Given the description of an element on the screen output the (x, y) to click on. 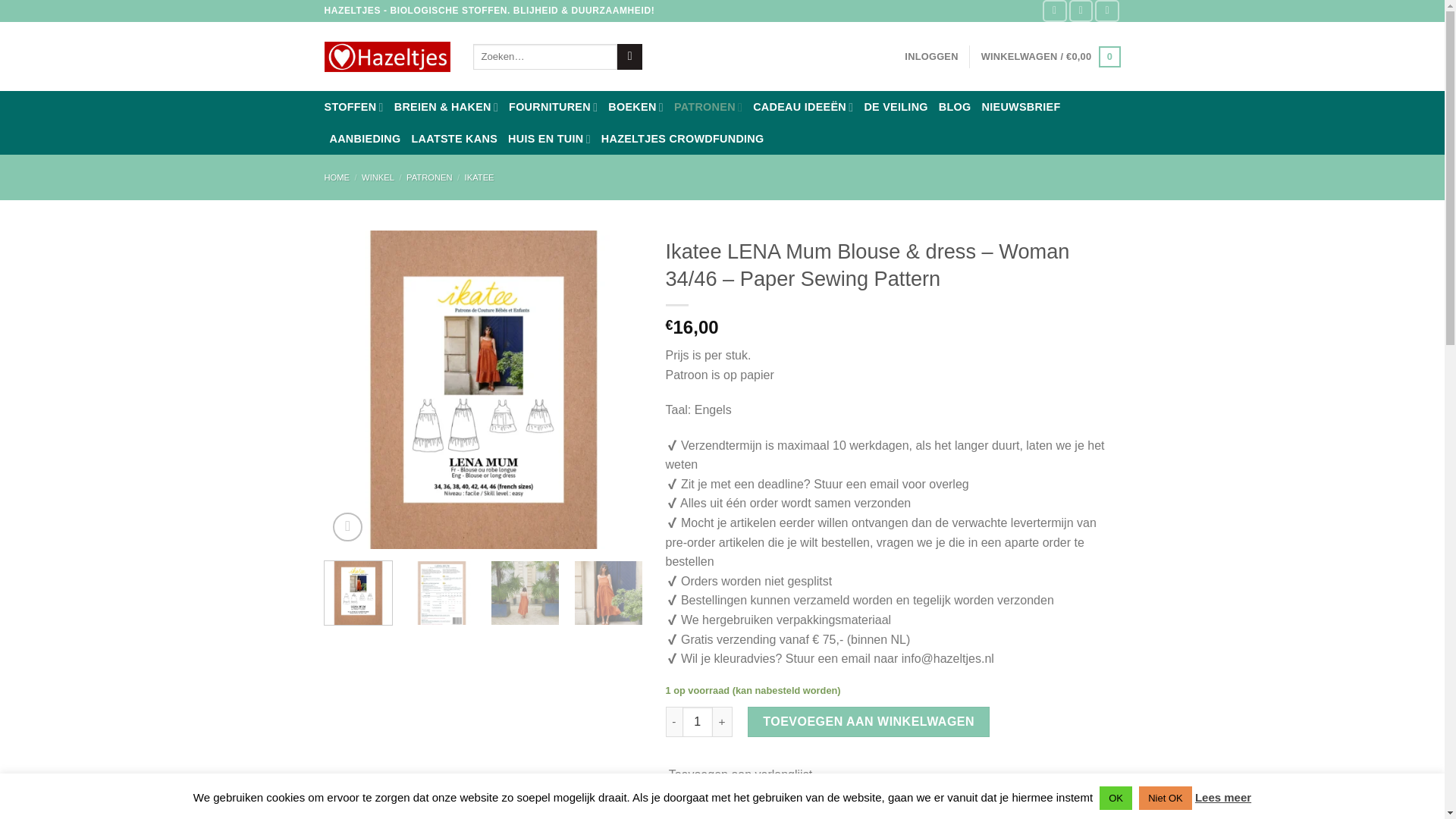
STOFFEN (354, 106)
Inloggen (931, 56)
Winkelwagen (1051, 56)
INLOGGEN (931, 56)
Zoeken (629, 56)
Volg ons op Instagram (1080, 11)
1 (697, 721)
Zoom (347, 527)
FOURNITUREN (552, 106)
Hazeltjes - Blije en duurzame stoffen (386, 56)
Volg ons op Facebook (1054, 11)
Stuur ons een e-mail (1106, 11)
